Given the description of an element on the screen output the (x, y) to click on. 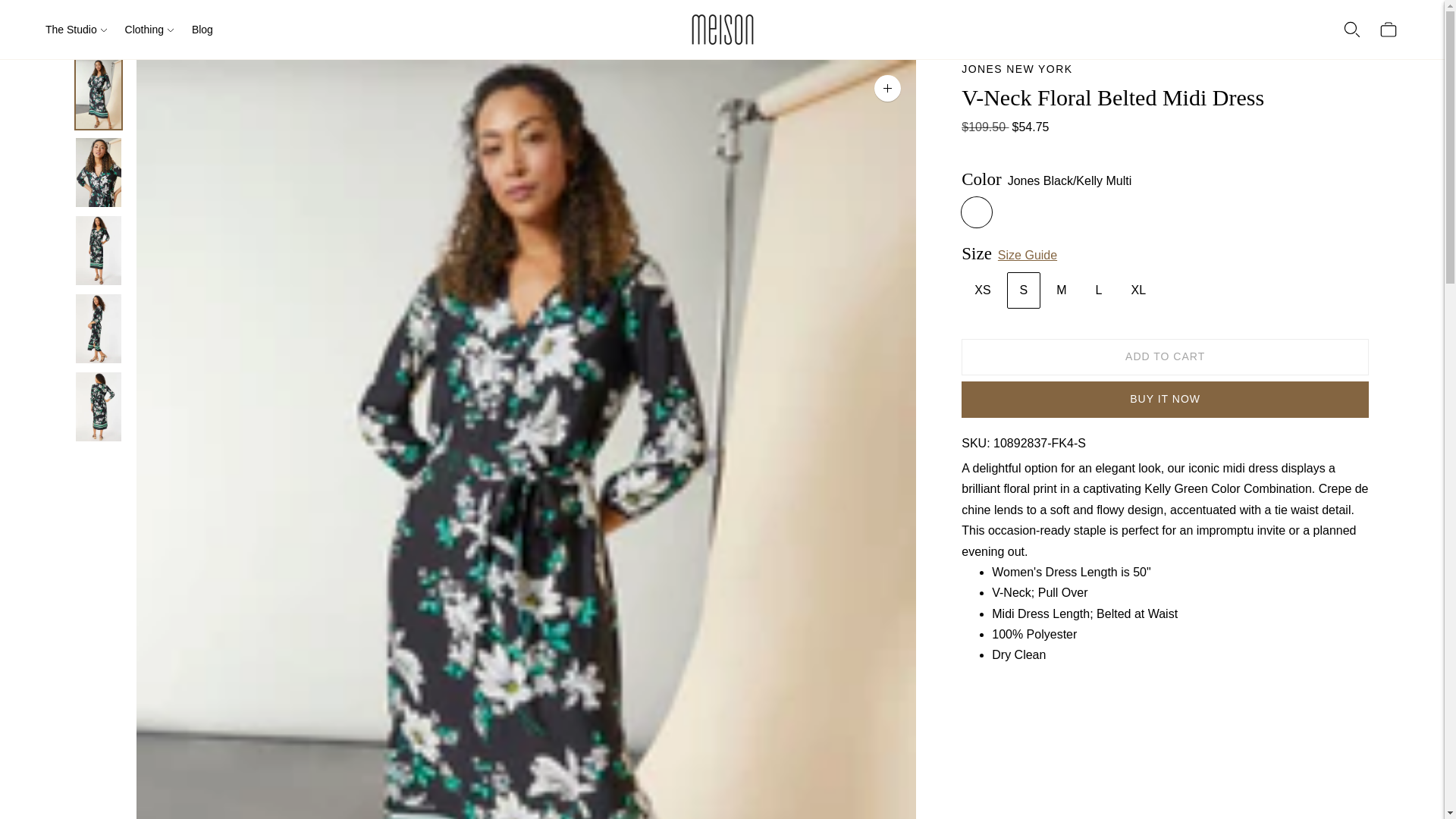
Jones New York (1015, 69)
Clothing (149, 29)
The Studio (75, 29)
